Given the description of an element on the screen output the (x, y) to click on. 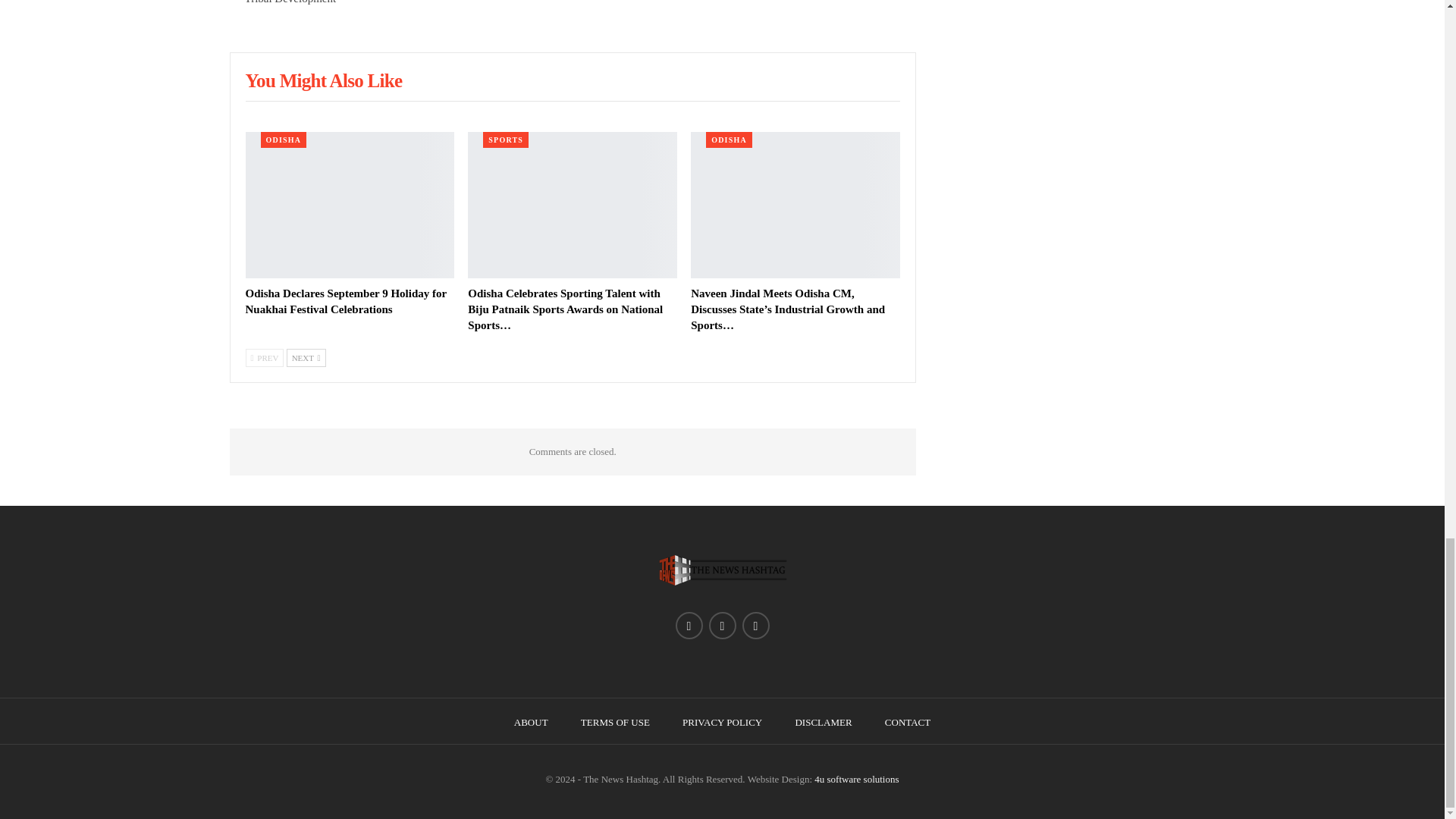
Next (306, 357)
Previous (264, 357)
ODISHA (283, 139)
You Might Also Like (324, 82)
